Given the description of an element on the screen output the (x, y) to click on. 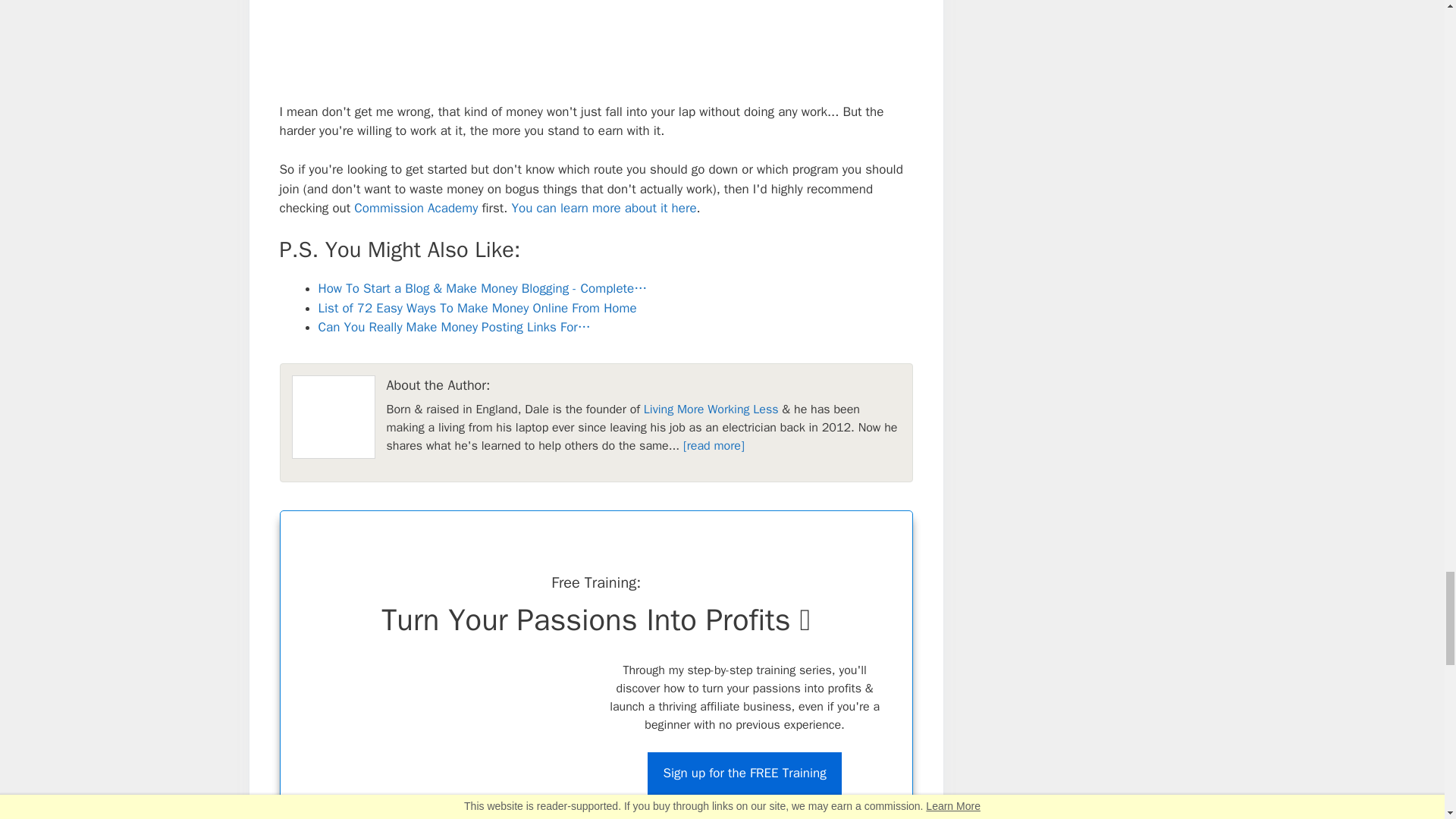
Commission Academy (415, 207)
Living More Working Less (710, 409)
Sign up for the FREE Training (744, 773)
List of 72 Easy Ways To Make Money Online From Home (477, 308)
Read More (713, 445)
You can learn more about it here (603, 207)
